Given the description of an element on the screen output the (x, y) to click on. 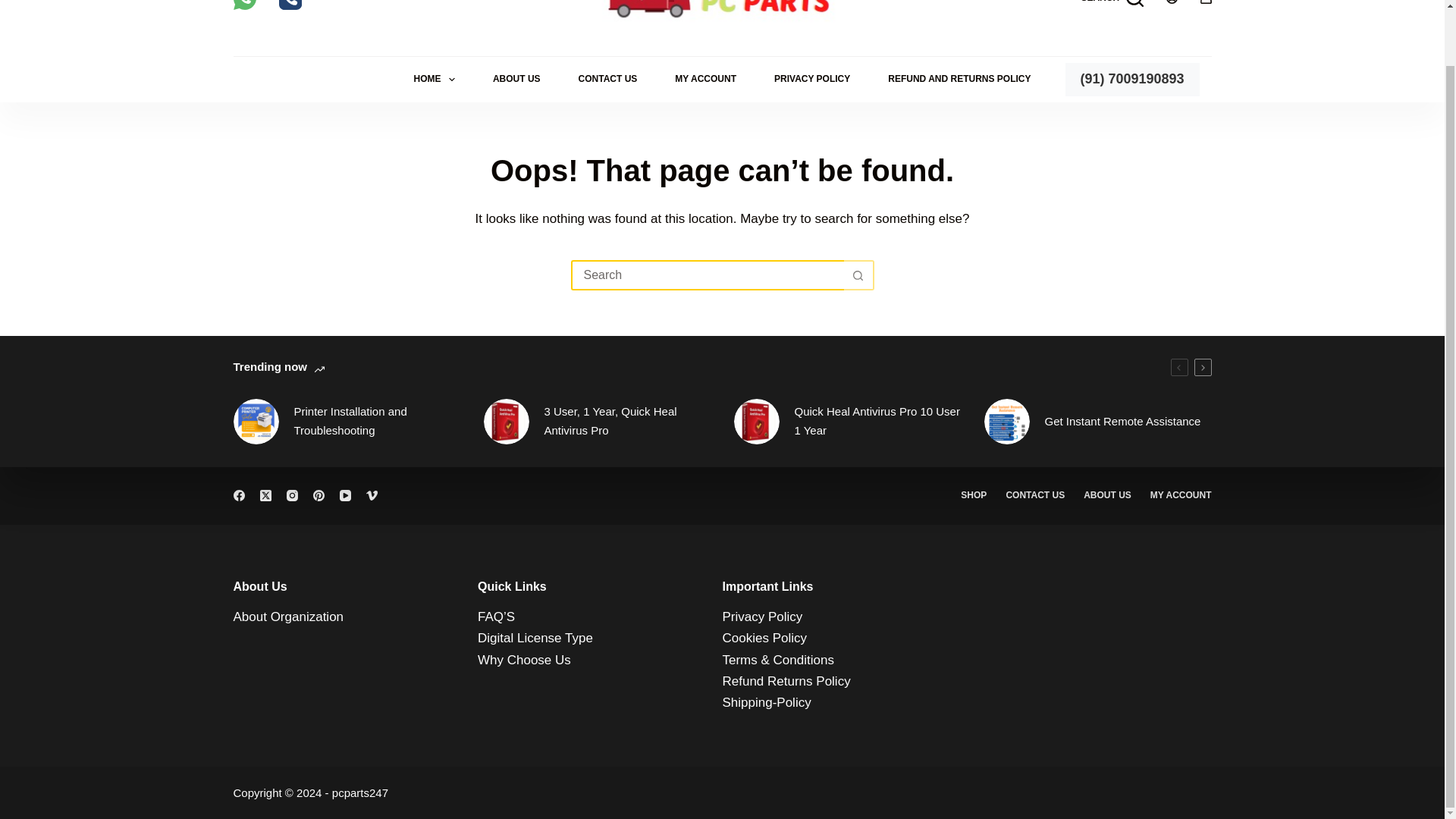
PRIVACY POLICY (812, 79)
ABOUT US (516, 79)
QP 300X300 (506, 421)
SEARCH (1111, 3)
Search for... (706, 275)
CONTACT US (607, 79)
Printer Installation and Troubleshooting (255, 421)
Shopping cart (1205, 2)
QP 300X300 (755, 421)
REFUND AND RETURNS POLICY (959, 79)
HOME (433, 79)
MY ACCOUNT (705, 79)
